Given the description of an element on the screen output the (x, y) to click on. 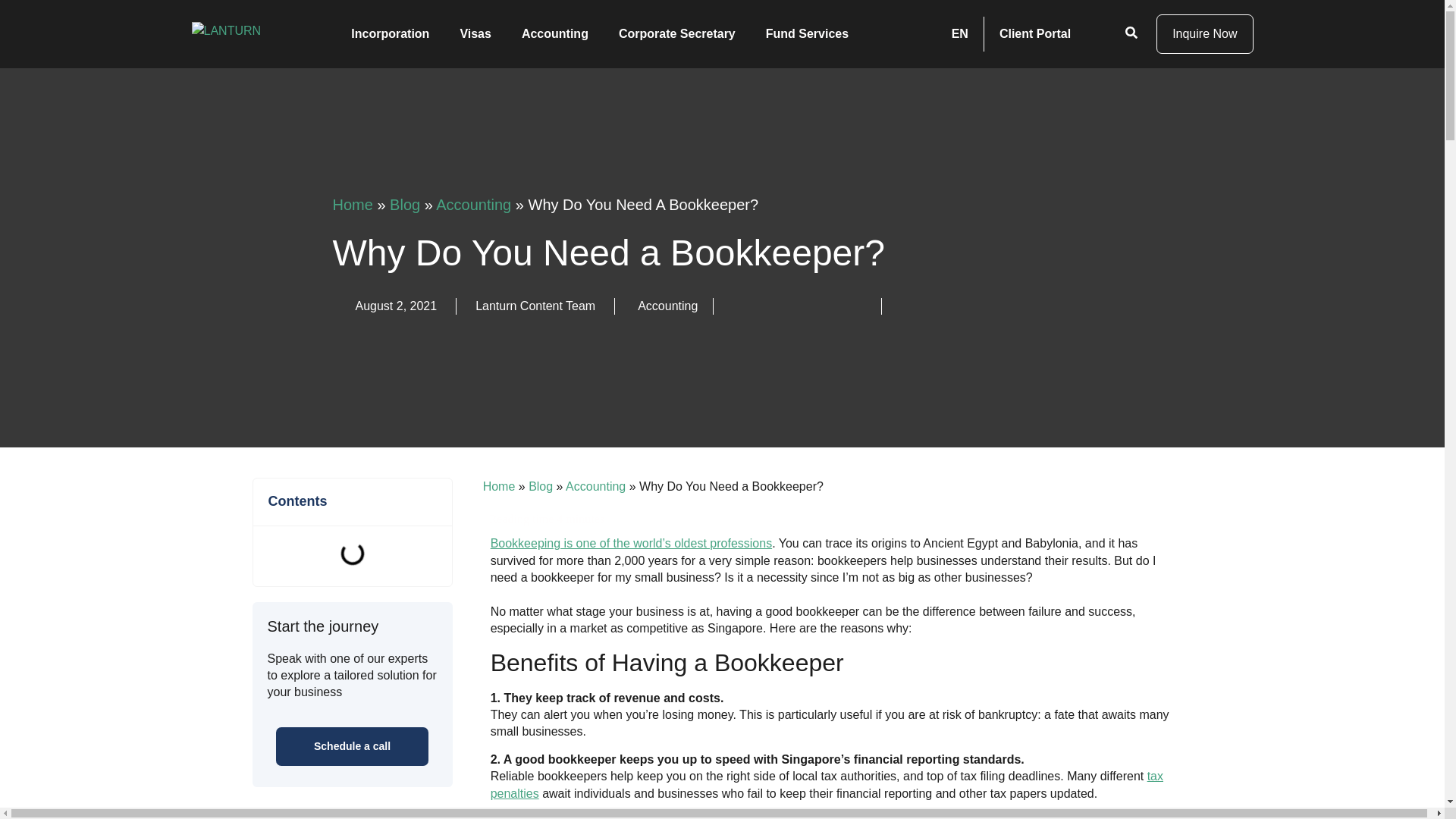
Corporate Secretary (677, 33)
Visas (475, 33)
Fund Services (807, 33)
Accounting (555, 33)
Incorporation (390, 33)
